Given the description of an element on the screen output the (x, y) to click on. 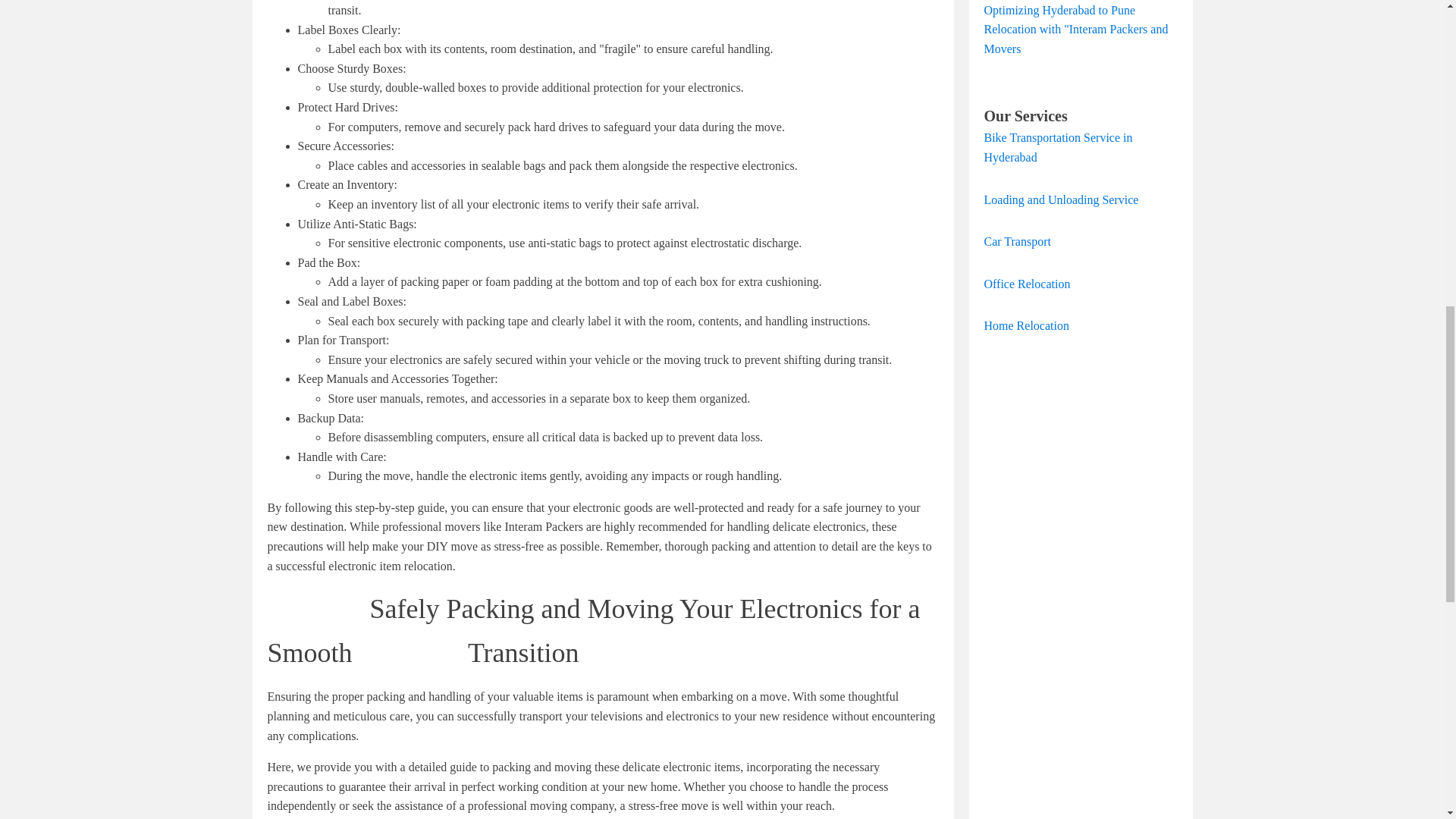
Office Relocation (1027, 283)
Car Transport (1017, 241)
Loading and Unloading Service (1061, 199)
Bike Transportation Service in Hyderabad (1058, 147)
Home Relocation (1026, 325)
